Given the description of an element on the screen output the (x, y) to click on. 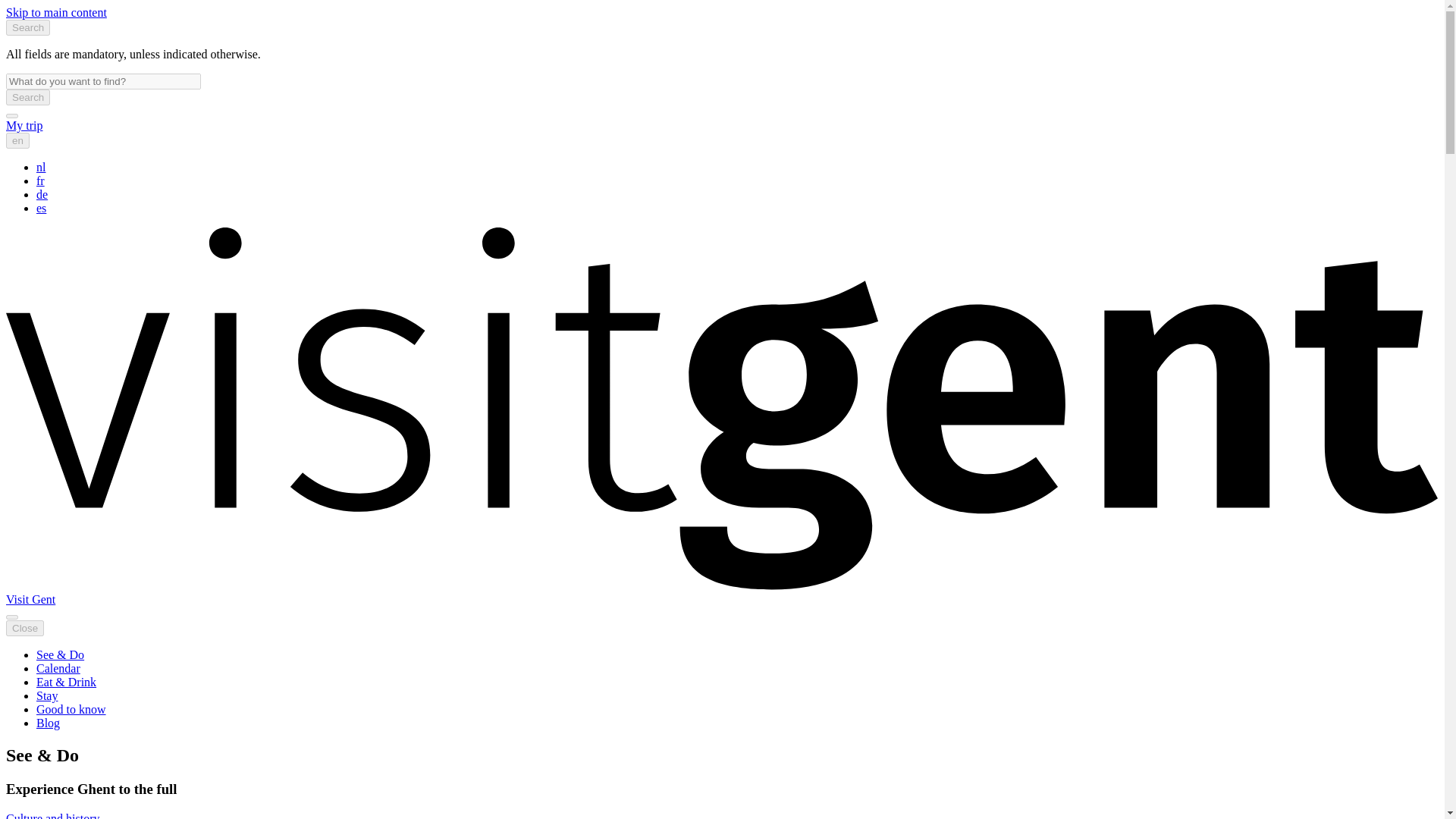
Culture and history (52, 815)
Search (27, 97)
Menu (11, 617)
Home (30, 599)
Blog (47, 722)
Calendar (58, 667)
Skip to main content (55, 11)
Close (24, 627)
Search (27, 27)
Close (24, 627)
Search (27, 97)
Good to know (71, 708)
My trip (23, 124)
Visit Gent (30, 599)
Stay (47, 695)
